Given the description of an element on the screen output the (x, y) to click on. 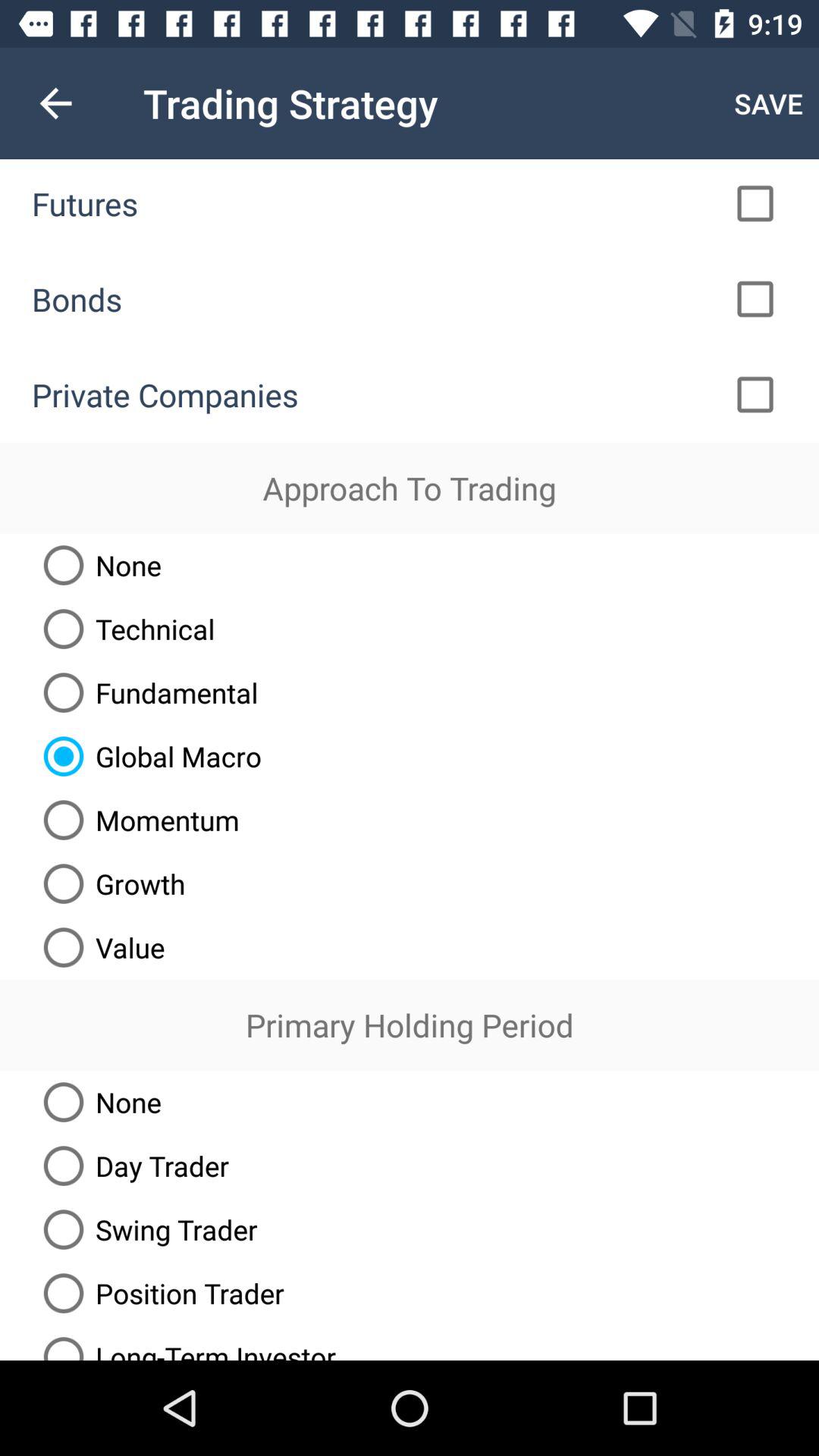
scroll to growth icon (108, 883)
